Given the description of an element on the screen output the (x, y) to click on. 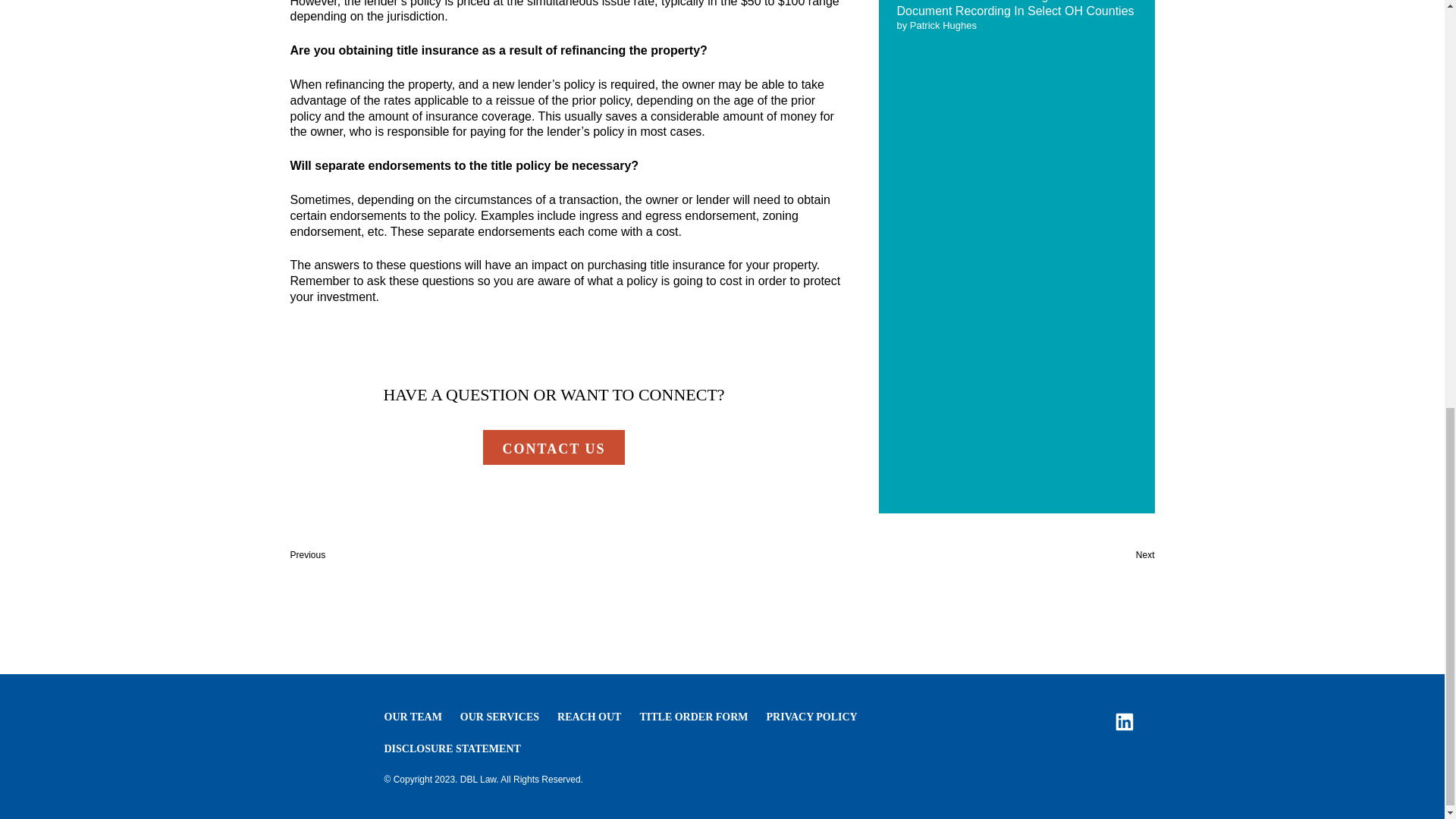
TITLE ORDER FORM (693, 716)
DISCLOSURE STATEMENT (451, 748)
Previous (306, 554)
LinkedIn (1124, 721)
Next (1144, 554)
REACH OUT (589, 716)
CONTACT US (554, 447)
OUR SERVICES (499, 716)
OUR TEAM (412, 716)
PRIVACY POLICY (812, 716)
